Given the description of an element on the screen output the (x, y) to click on. 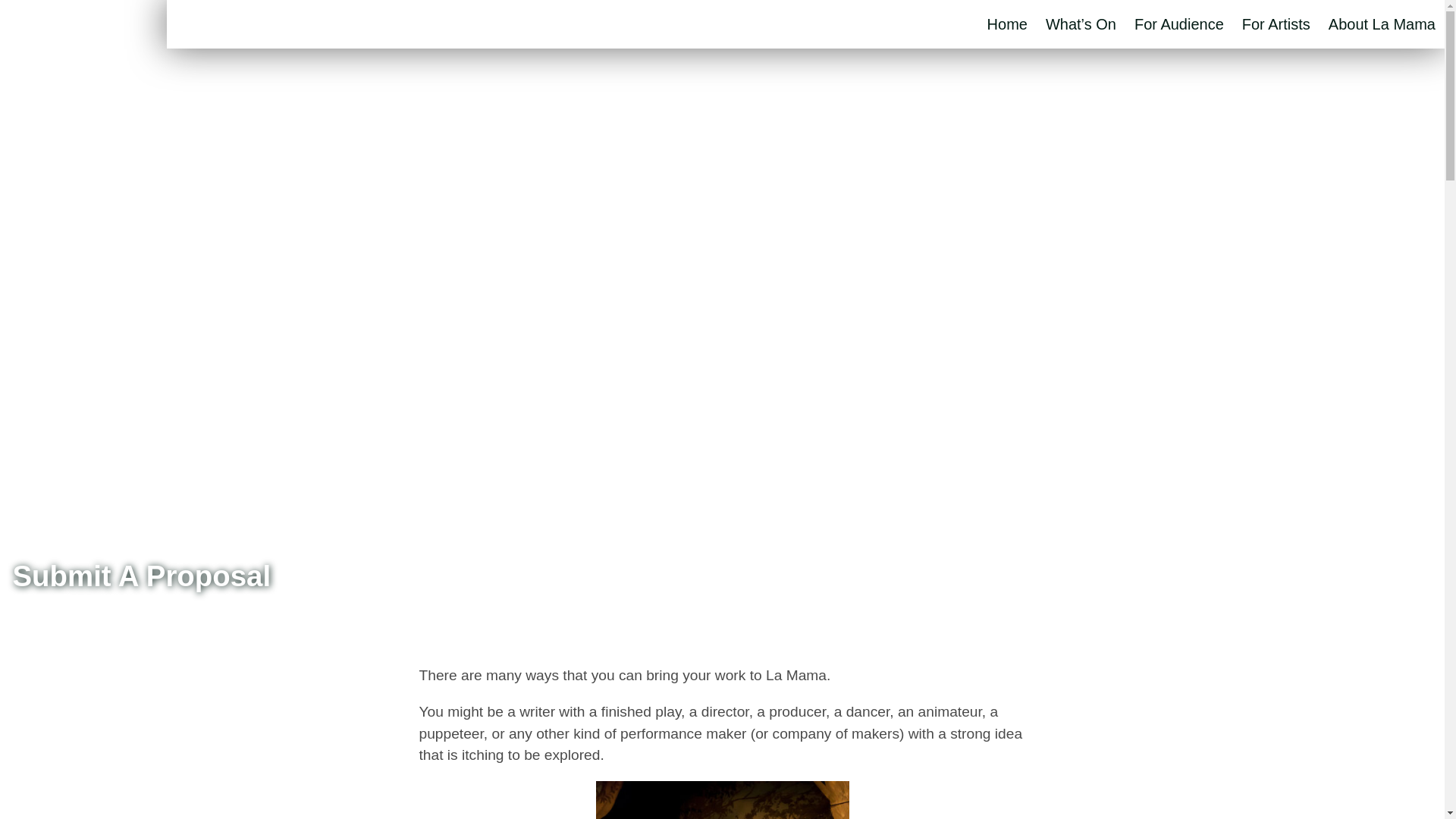
Home (1007, 24)
About La Mama (1381, 24)
For Audience (1179, 24)
For Artists (1275, 24)
For Audience (1179, 24)
Home (1007, 24)
What's On (1080, 24)
About La Mama (1381, 24)
For Artists (1275, 24)
